Given the description of an element on the screen output the (x, y) to click on. 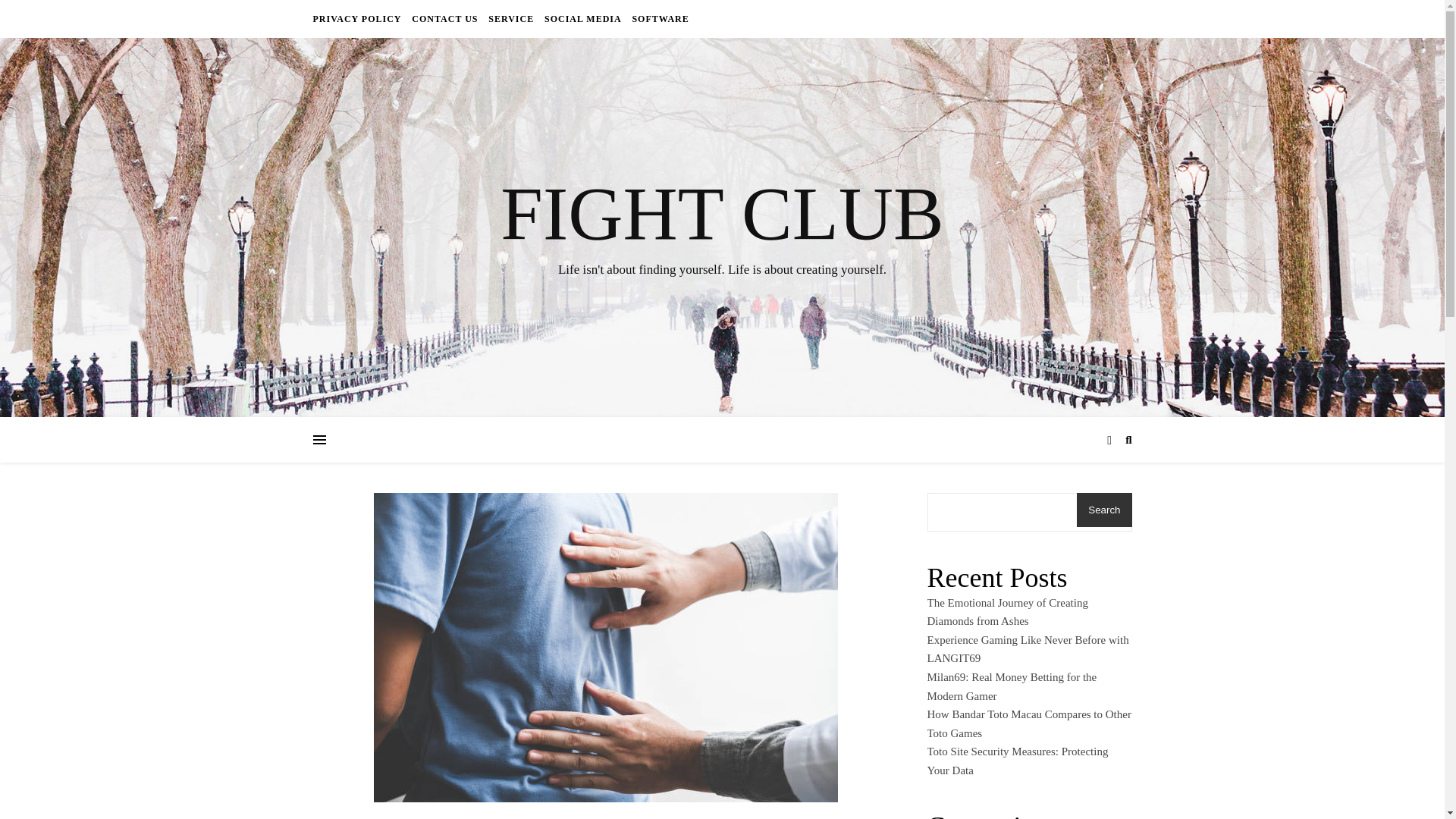
PRIVACY POLICY (358, 18)
The Emotional Journey of Creating Diamonds from Ashes (1006, 612)
Experience Gaming Like Never Before with LANGIT69 (1027, 649)
SERVICE (510, 18)
SOFTWARE (657, 18)
HEALTH (605, 817)
CONTACT US (444, 18)
Toto Site Security Measures: Protecting Your Data (1017, 760)
How Bandar Toto Macau Compares to Other Toto Games (1028, 723)
Search (1104, 510)
SOCIAL MEDIA (583, 18)
Milan69: Real Money Betting for the Modern Gamer (1011, 685)
